Given the description of an element on the screen output the (x, y) to click on. 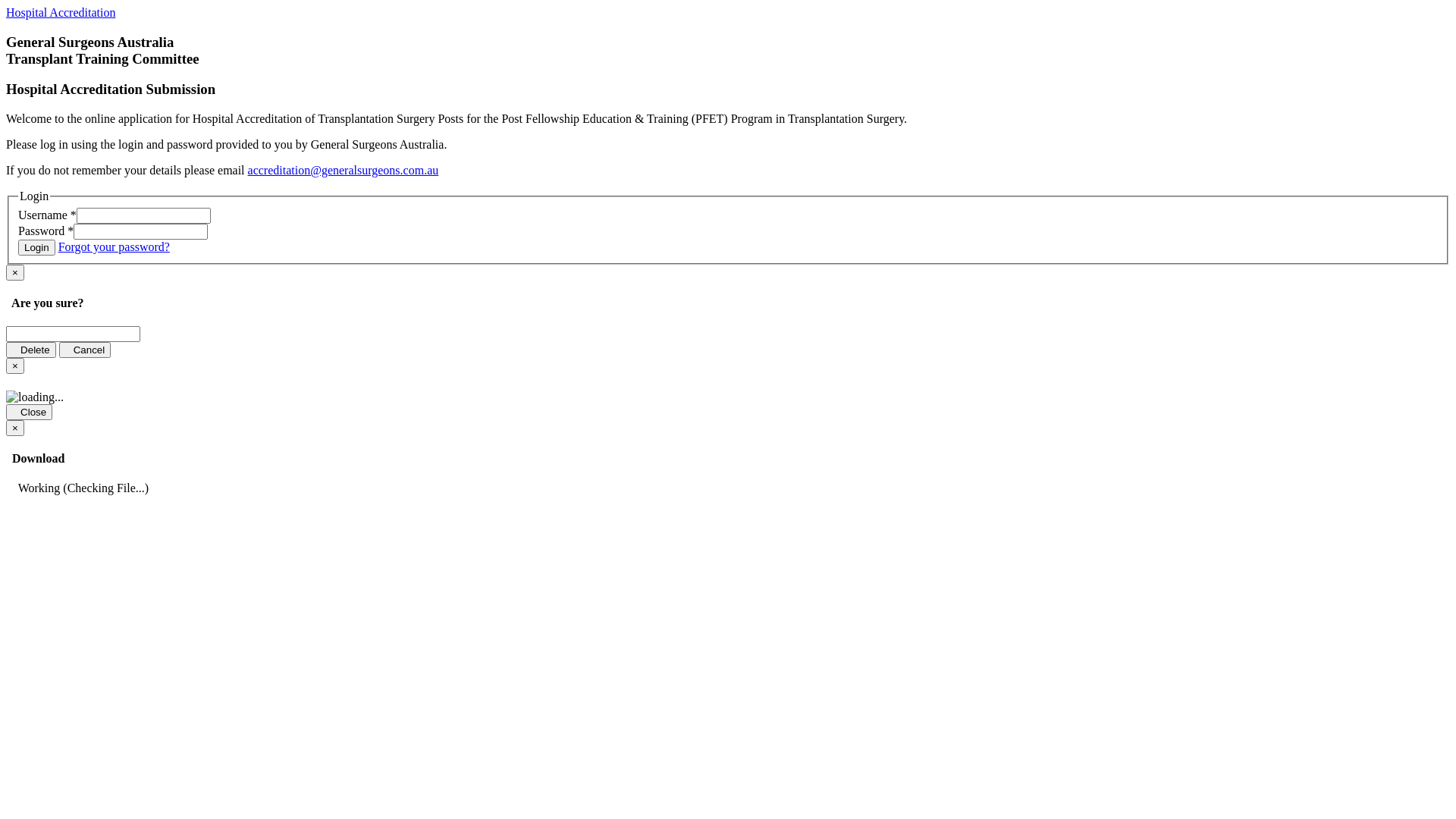
Hospital Accreditation Element type: text (60, 12)
   Delete Element type: text (31, 349)
   Cancel Element type: text (85, 349)
   Close Element type: text (29, 412)
Login Element type: text (36, 247)
Forgot your password? Element type: text (113, 246)
accreditation@generalsurgeons.com.au Element type: text (343, 169)
